Given the description of an element on the screen output the (x, y) to click on. 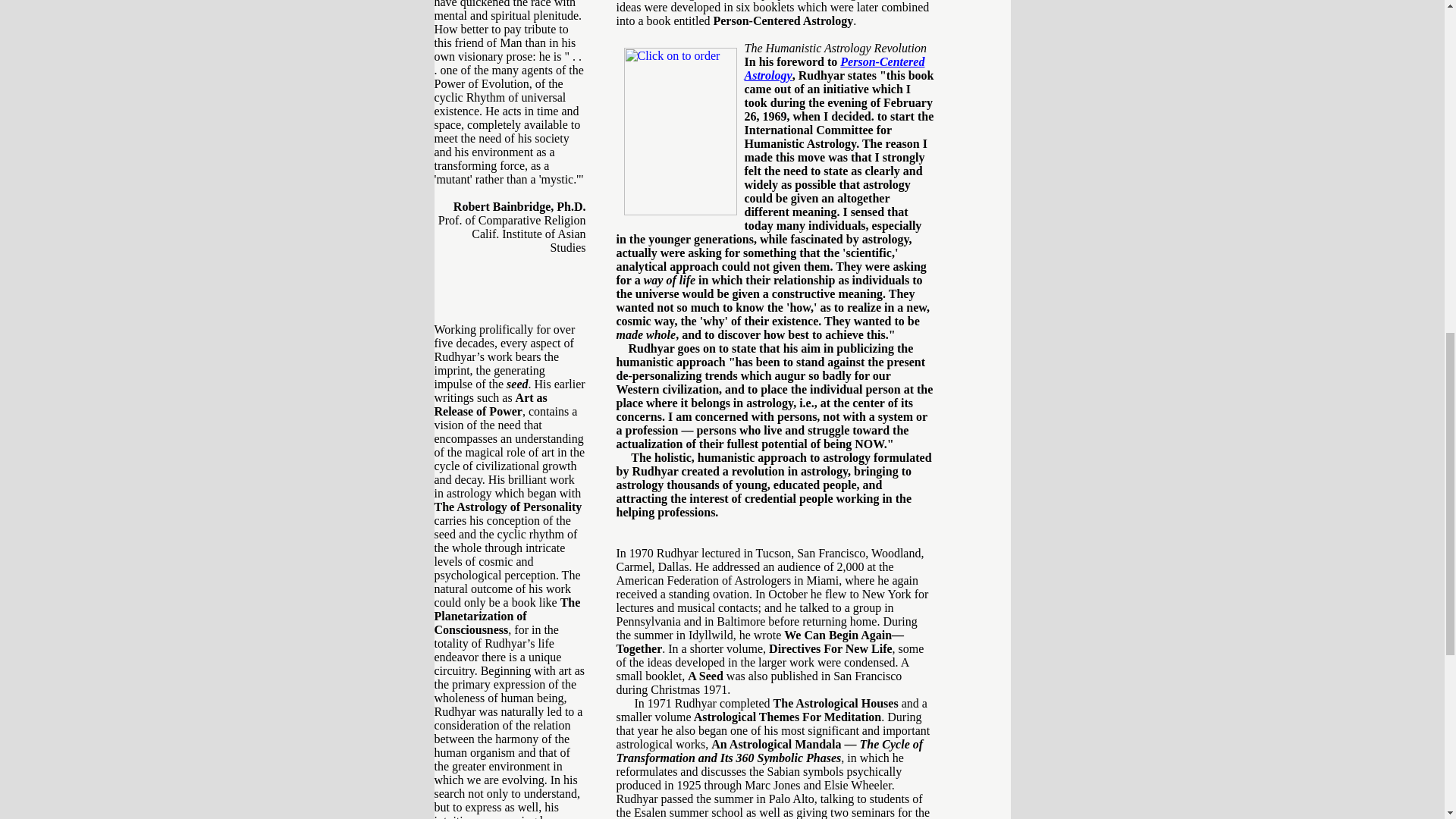
Person-Centered Astrology (834, 68)
